Given the description of an element on the screen output the (x, y) to click on. 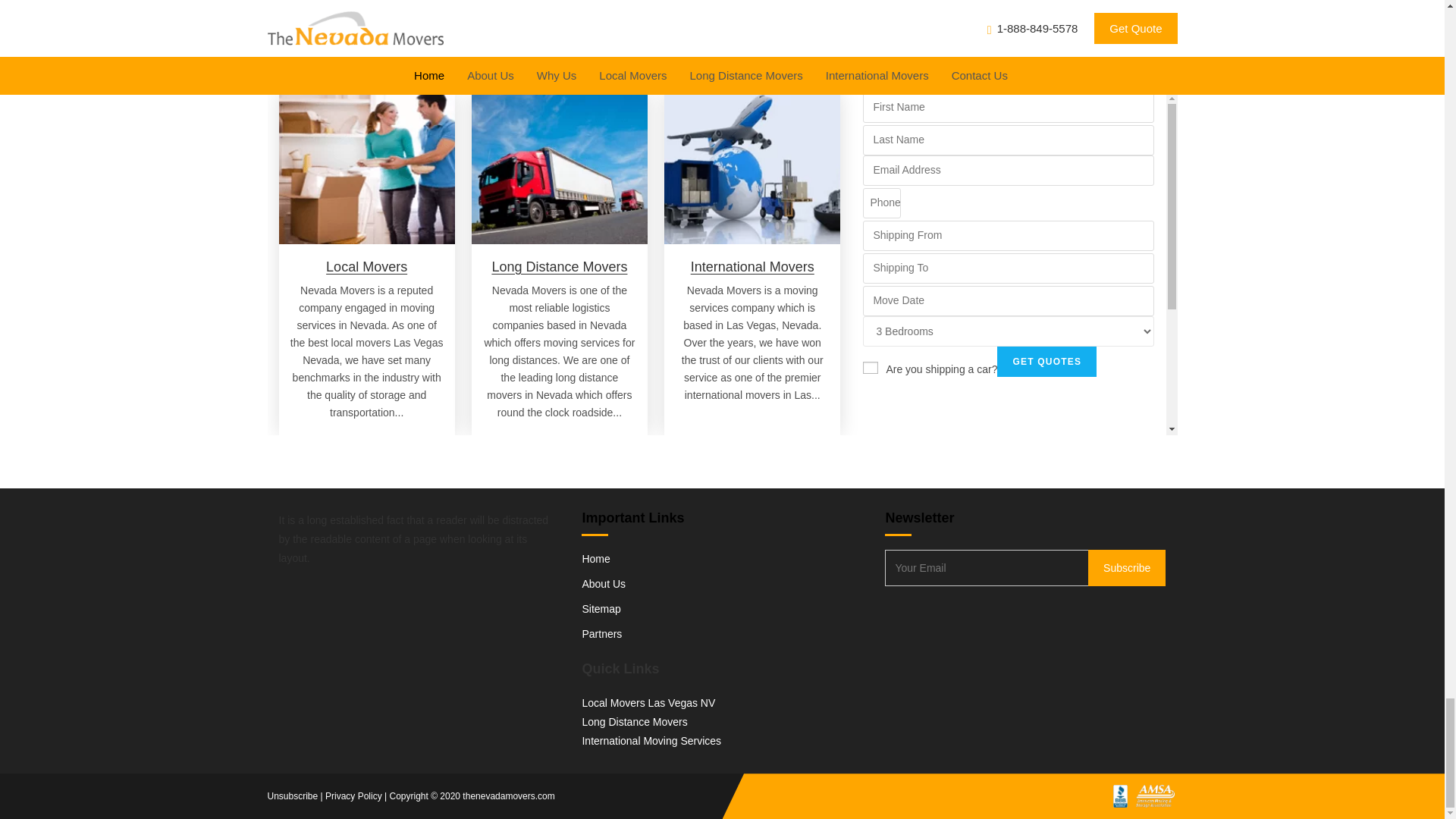
Subscribe (1126, 567)
Local Movers (366, 266)
Get Quotes (1046, 361)
Sitemap (600, 608)
International Moving Services (650, 740)
Partners (600, 633)
Get Quotes (1046, 361)
Long Distance Movers (559, 266)
International Movers (751, 266)
Long Distance Movers (633, 721)
About Us (603, 583)
Home (595, 558)
Unsubscribe (291, 796)
Local Movers Las Vegas NV (647, 702)
Privacy Policy (352, 796)
